Given the description of an element on the screen output the (x, y) to click on. 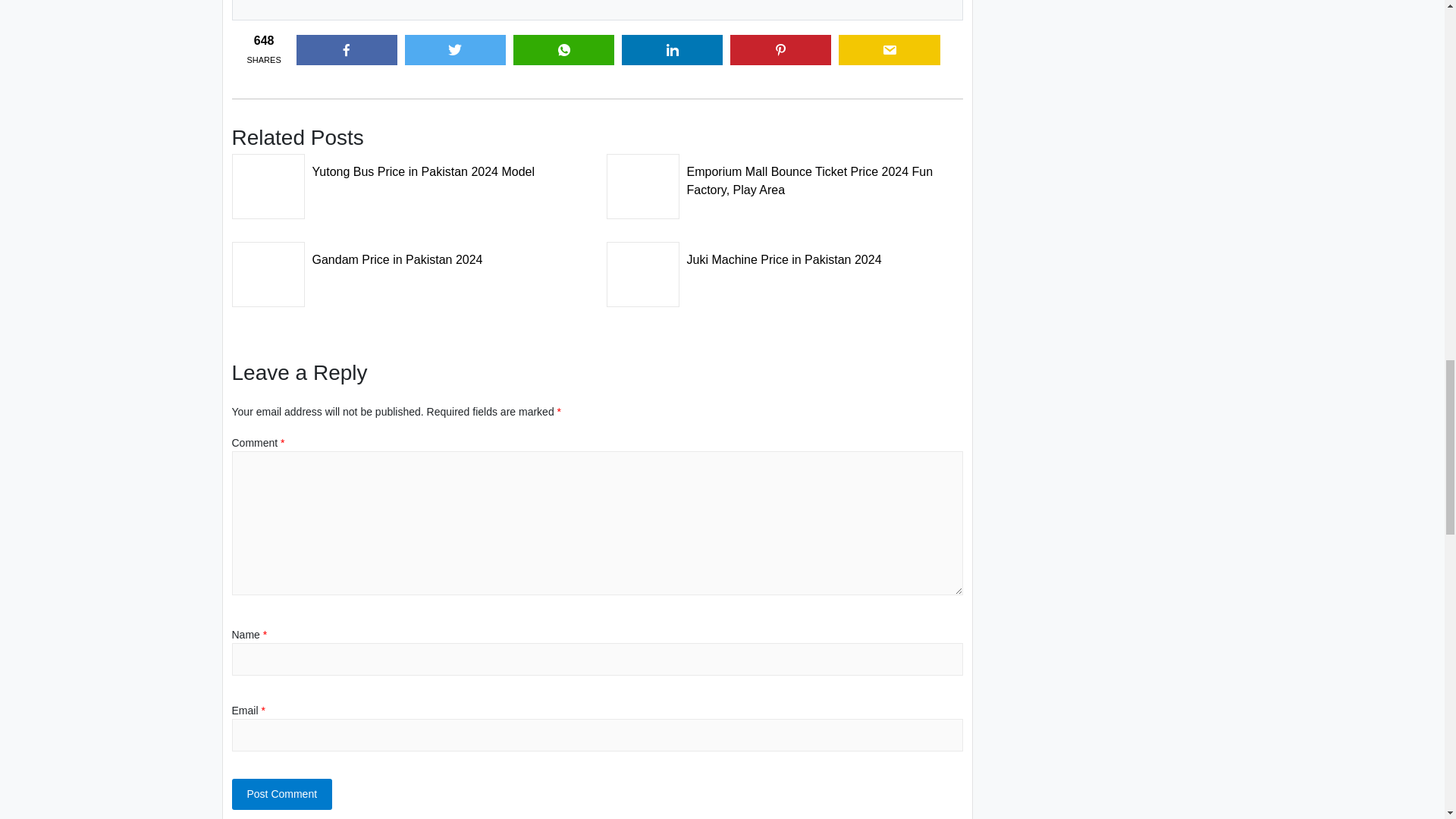
Yutong Bus Price in Pakistan 2024 Model (409, 166)
Gandam Price in Pakistan 2024 (409, 255)
Juki Machine Price in Pakistan 2024 (784, 255)
Post Comment (282, 793)
Post Comment (282, 793)
